Given the description of an element on the screen output the (x, y) to click on. 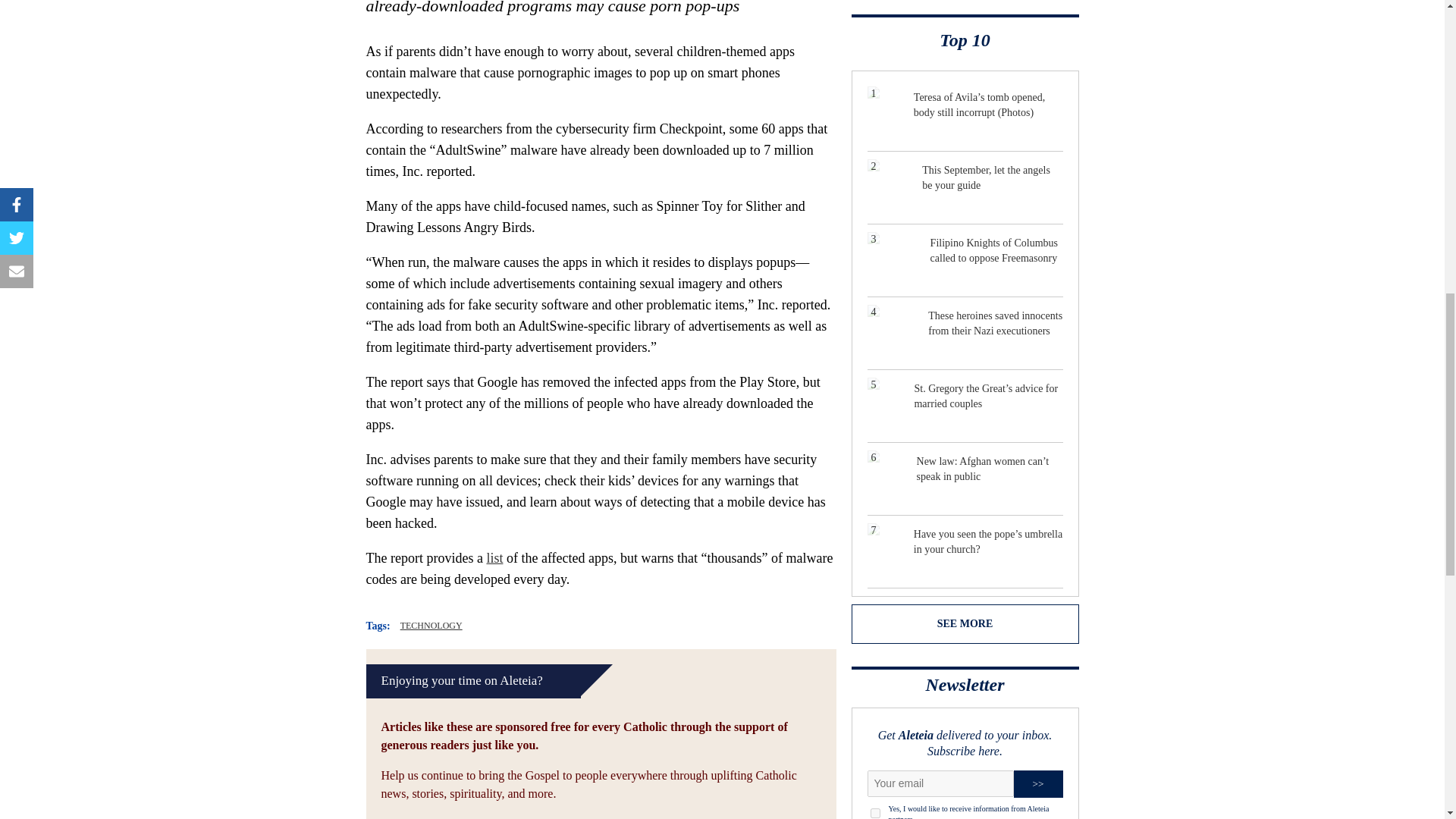
1 (875, 813)
TECHNOLOGY (430, 625)
list (494, 557)
